Given the description of an element on the screen output the (x, y) to click on. 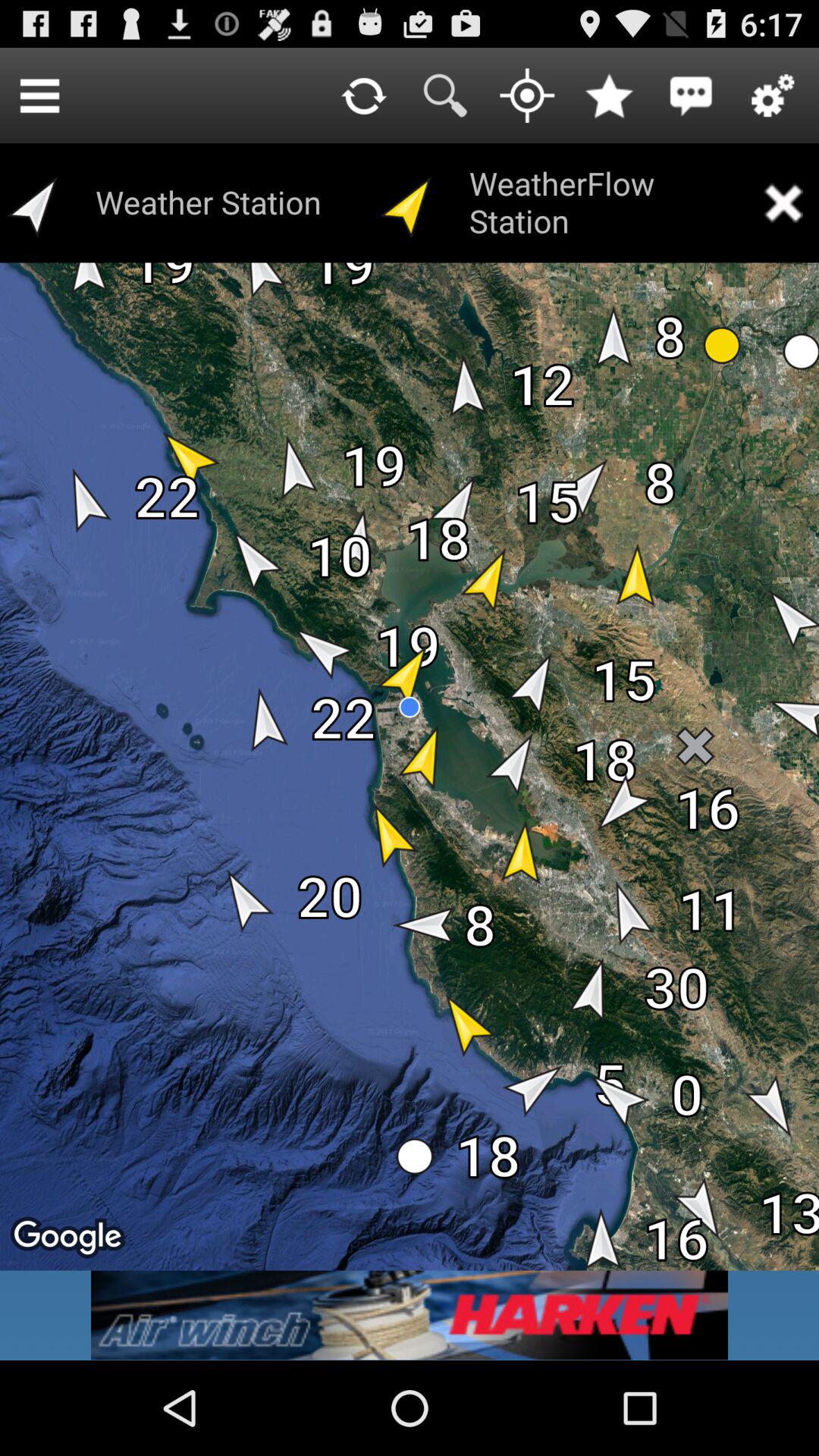
to find menu (39, 95)
